Given the description of an element on the screen output the (x, y) to click on. 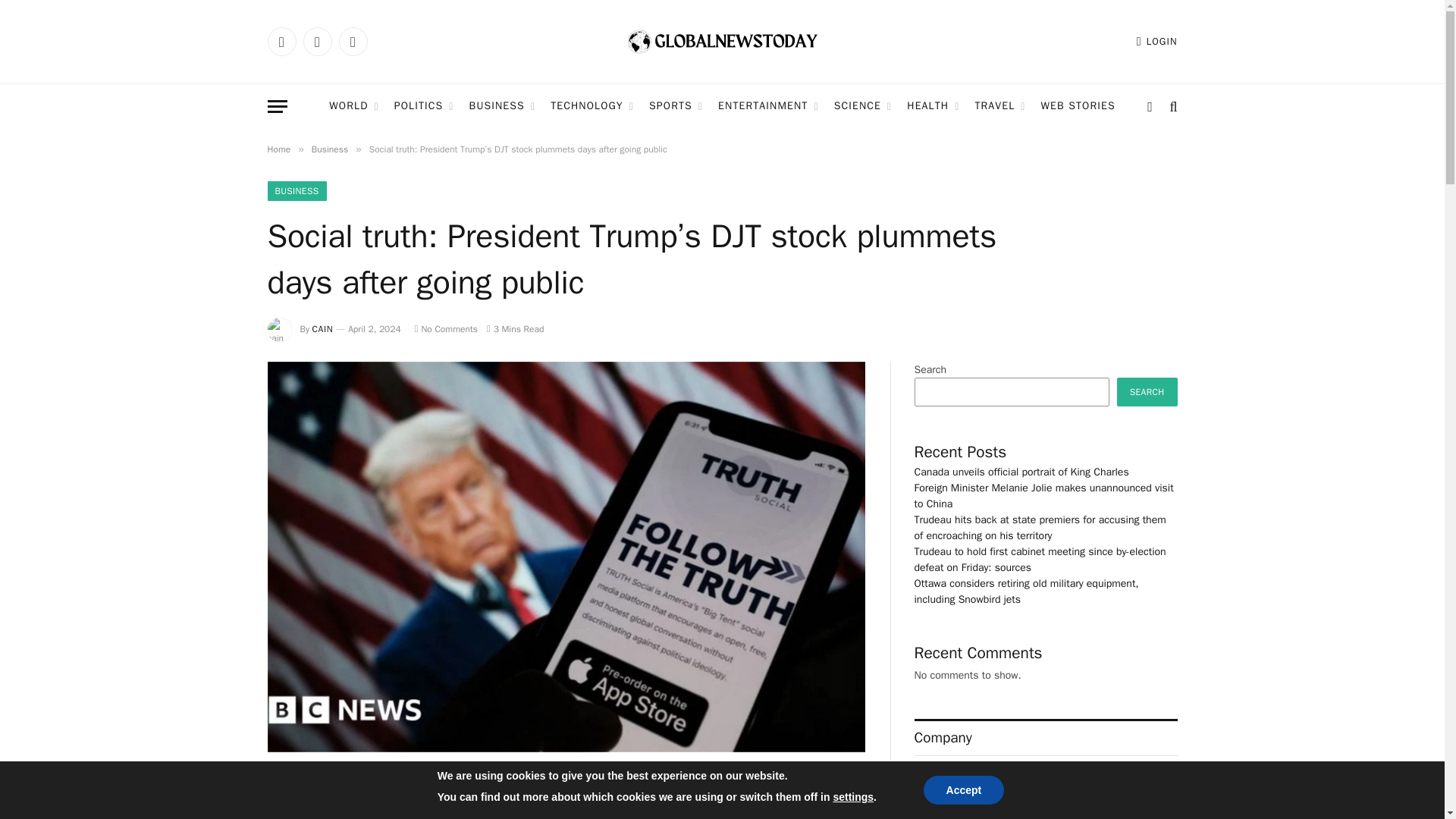
WORLD (353, 106)
POLITICS (424, 106)
GlobalNewsToday (721, 41)
LOGIN (1157, 41)
Instagram (351, 41)
Facebook (280, 41)
